Given the description of an element on the screen output the (x, y) to click on. 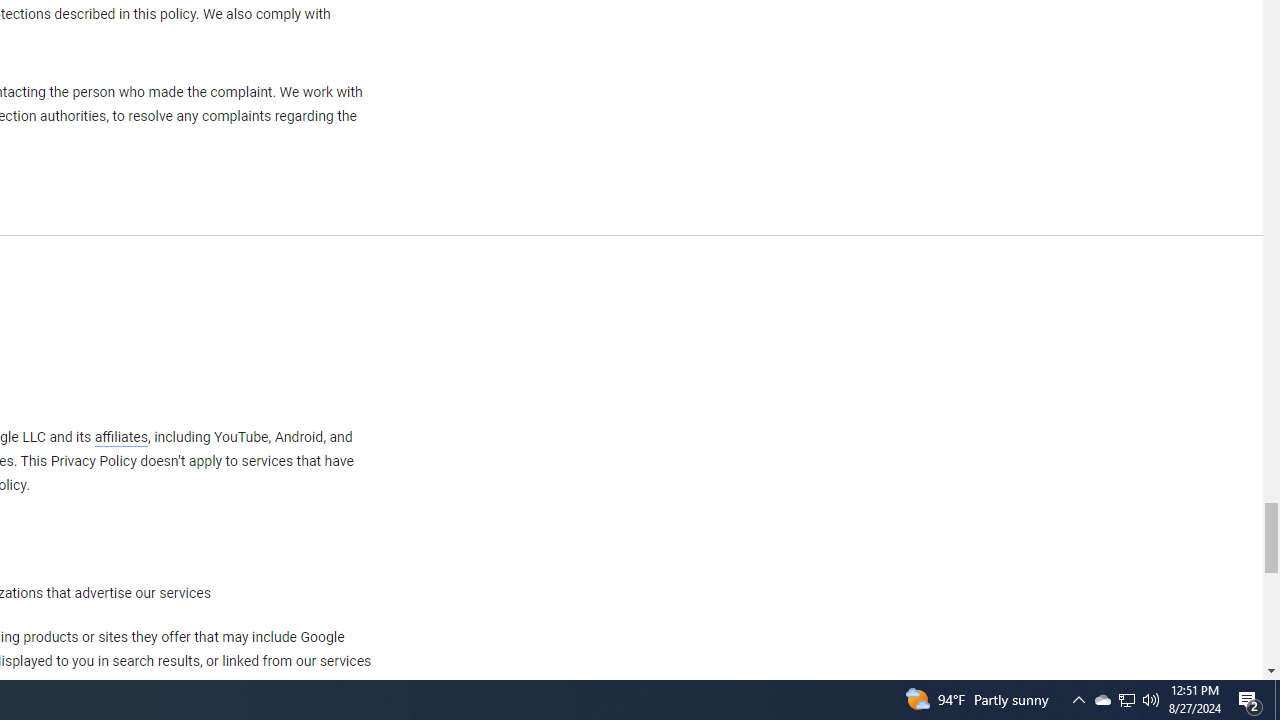
affiliates (120, 437)
